Given the description of an element on the screen output the (x, y) to click on. 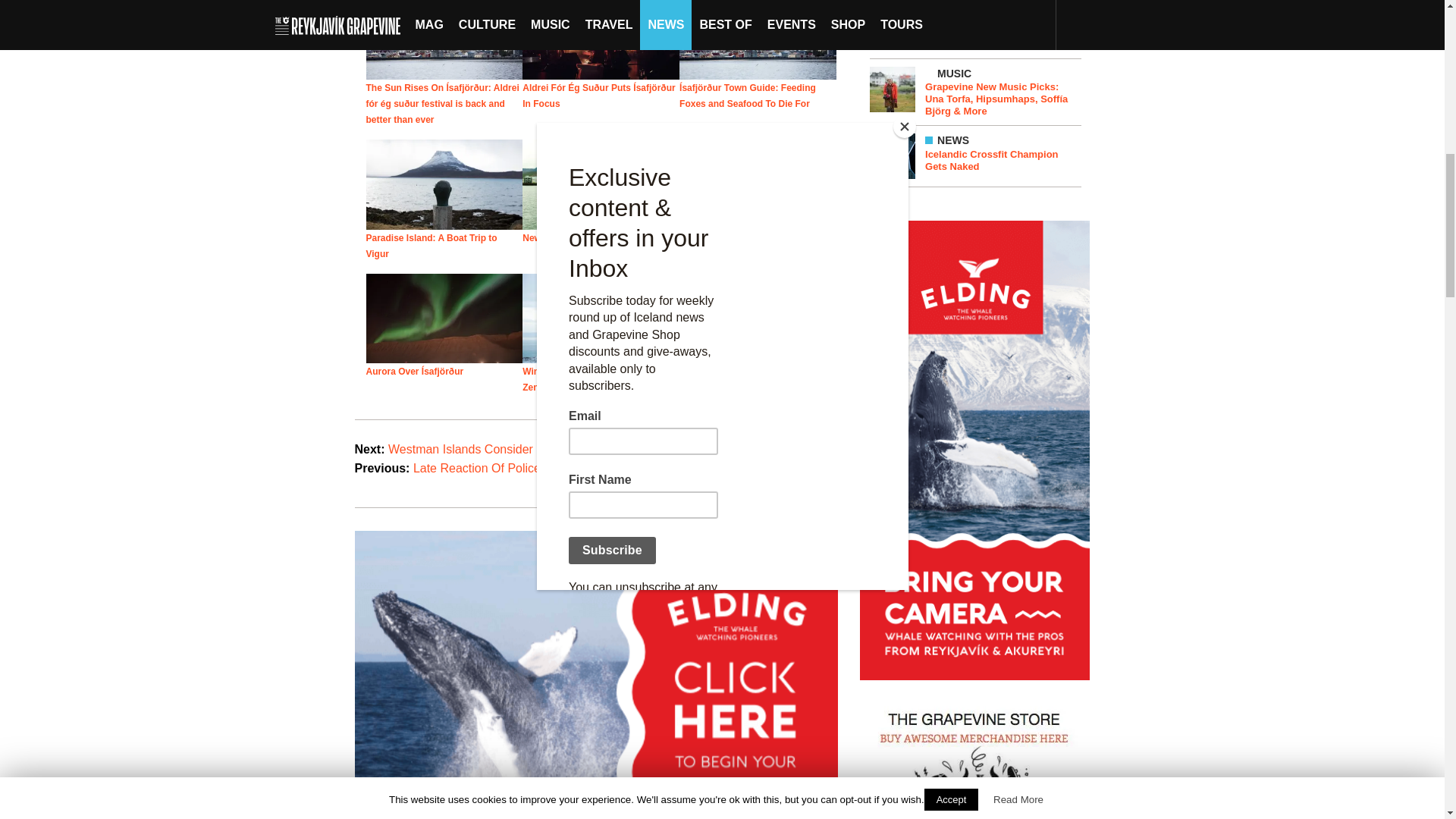
Paradise Island: A Boat Trip to Vigur (430, 245)
Paradise Island: A Boat Trip to Vigur (443, 184)
Paradise Island: A Boat Trip to Vigur (430, 245)
Half Of Westfjords Lose Phone And Internet Service For Hours (755, 379)
